Given the description of an element on the screen output the (x, y) to click on. 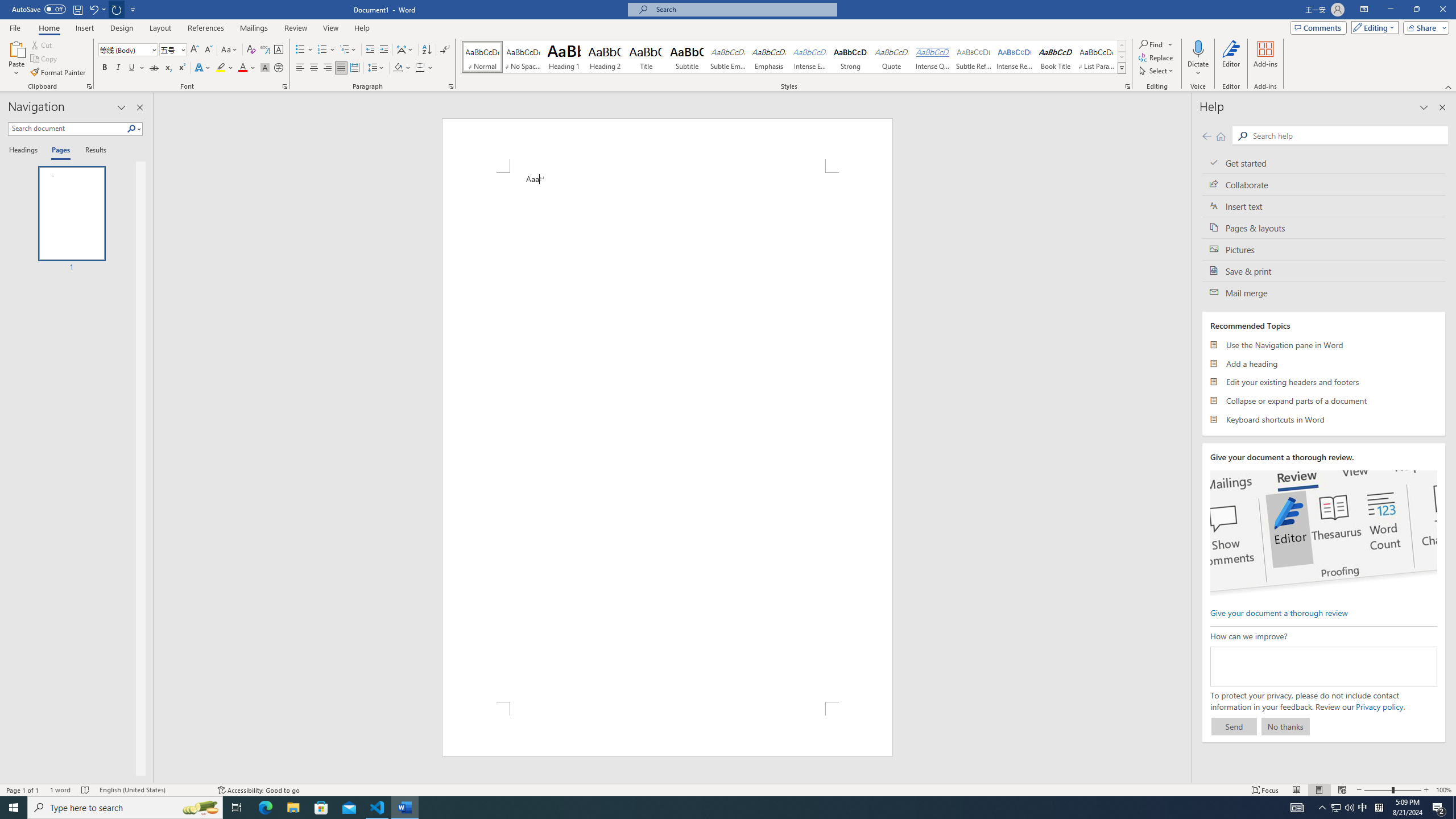
Book Title (1055, 56)
Title (646, 56)
Cut (42, 44)
Paste (16, 48)
Pictures (1323, 249)
Distributed (354, 67)
Format Painter (58, 72)
Sort... (426, 49)
Insert (83, 28)
Find (1155, 44)
Italic (118, 67)
Character Shading (264, 67)
Collapse or expand parts of a document (1323, 400)
